Given the description of an element on the screen output the (x, y) to click on. 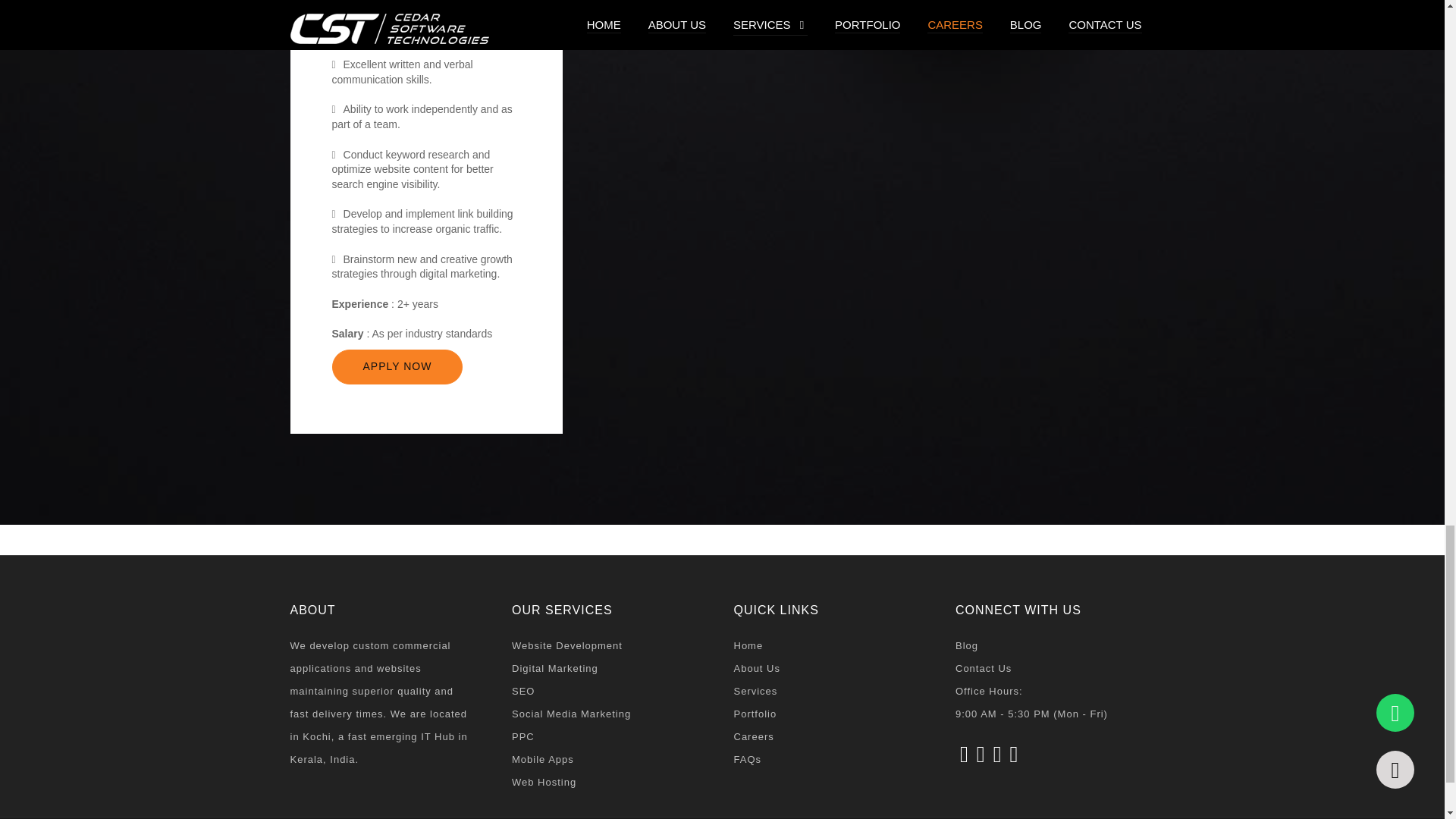
Contact Us (1054, 668)
PPC (611, 736)
APPLY NOW (397, 366)
Portfolio (833, 713)
Careers (833, 736)
SEO (611, 691)
FAQs (833, 759)
Blog (1054, 645)
Website Development (611, 645)
Web Hosting (611, 782)
Services (833, 691)
Social Media Marketing (611, 713)
Mobile Apps (611, 759)
Home (833, 645)
About Us (833, 668)
